Given the description of an element on the screen output the (x, y) to click on. 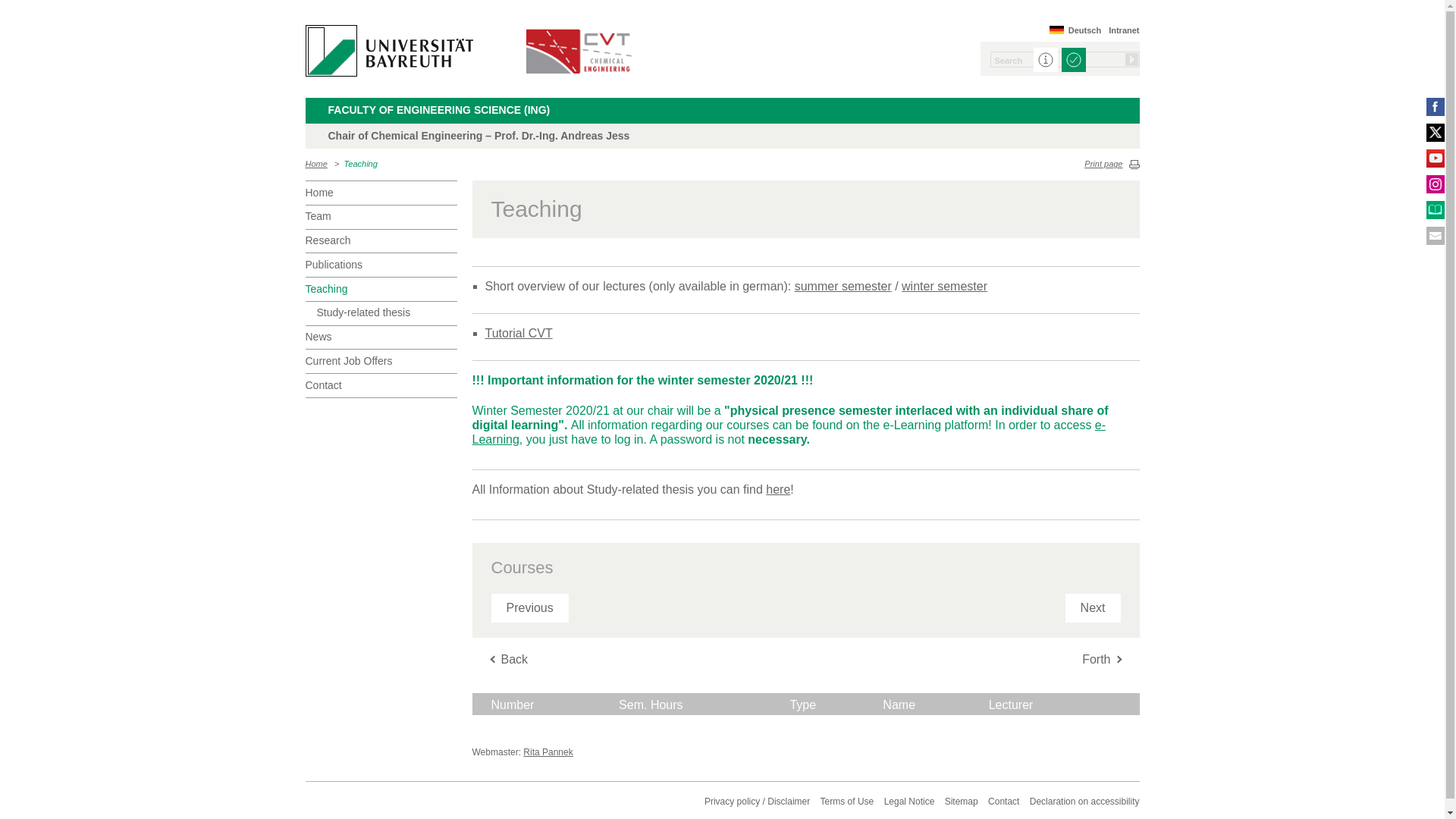
Zu vergebende Studienarbeiten (777, 489)
